Given the description of an element on the screen output the (x, y) to click on. 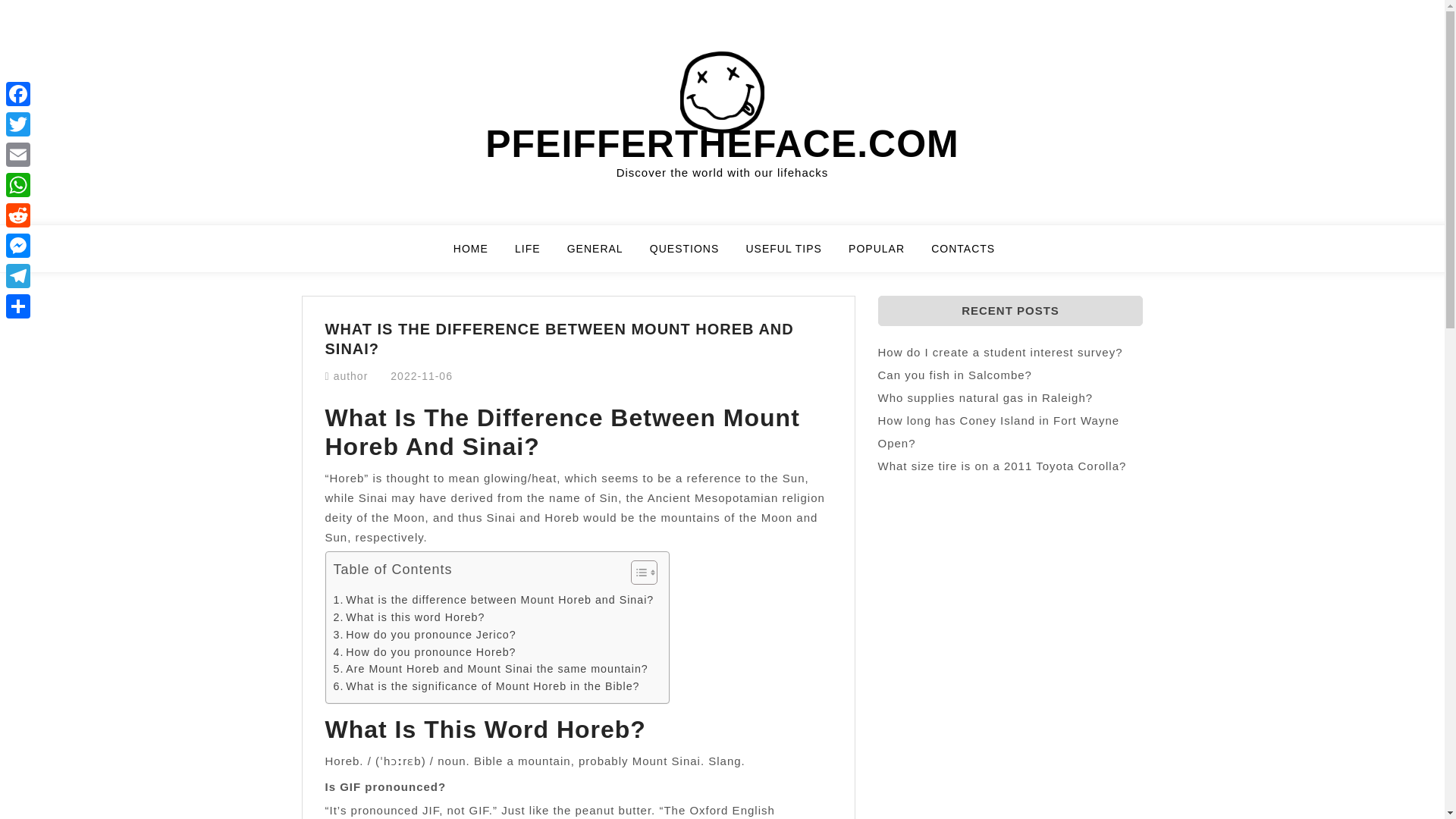
Email (17, 154)
What is the significance of Mount Horeb in the Bible? (486, 686)
USEFUL TIPS (792, 255)
What is the difference between Mount Horeb and Sinai? (493, 600)
author (350, 376)
GENERAL (604, 255)
Messenger (17, 245)
Facebook (17, 93)
How do you pronounce Jerico? (424, 634)
What is this word Horeb? (408, 617)
How do I create a student interest survey? (999, 351)
Reddit (17, 214)
WhatsApp (17, 184)
How do you pronounce Horeb? (424, 651)
2022-11-06 (421, 376)
